Given the description of an element on the screen output the (x, y) to click on. 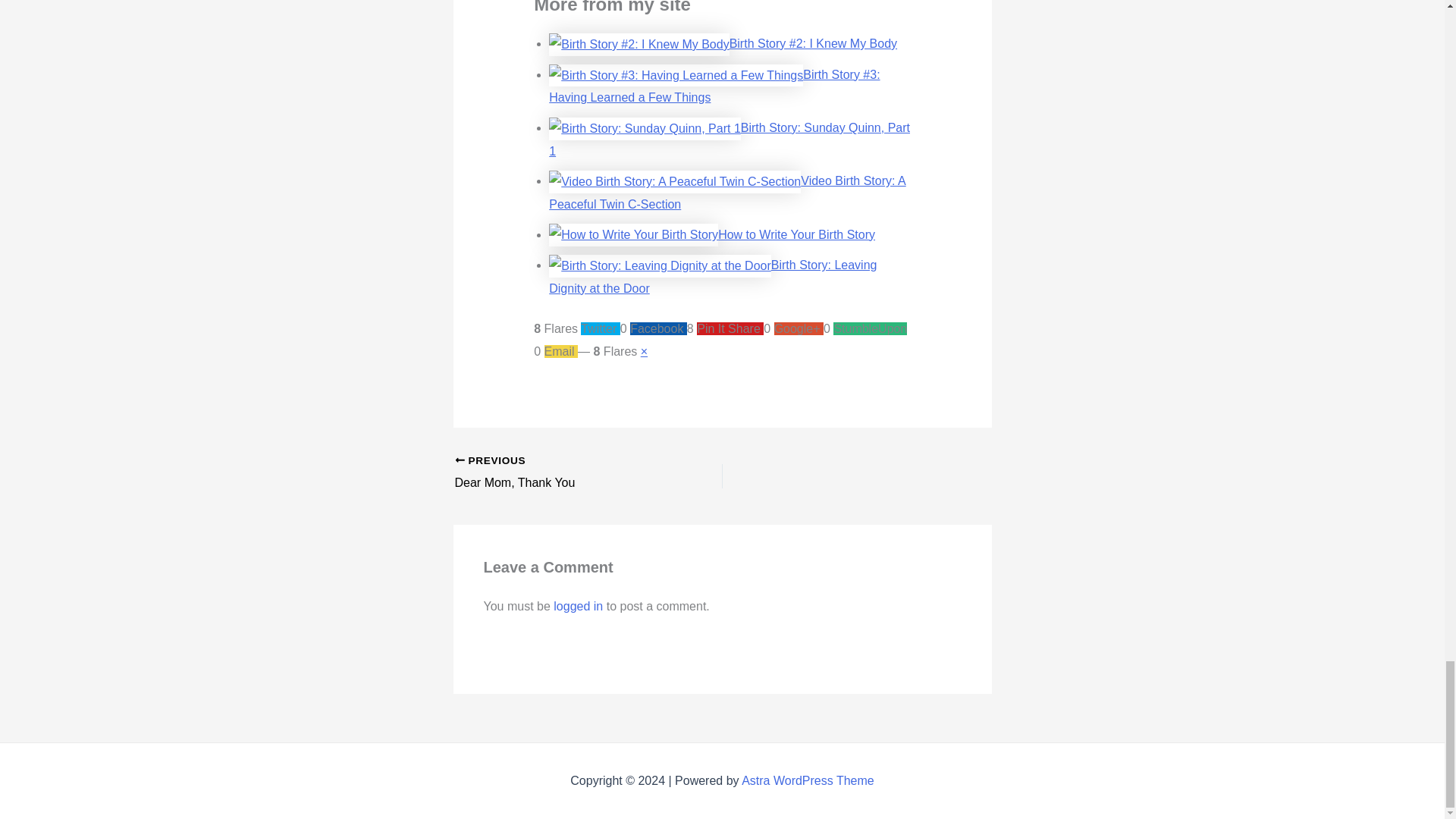
How to Write Your Birth Story (796, 234)
Astra WordPress Theme (808, 780)
Video Birth Story: A Peaceful Twin C-Section (726, 192)
logged in (577, 605)
Dear Mom, Thank You (561, 473)
Birth Story: Leaving Dignity at the Door (561, 473)
Birth Story: Sunday Quinn, Part 1 (712, 276)
